Given the description of an element on the screen output the (x, y) to click on. 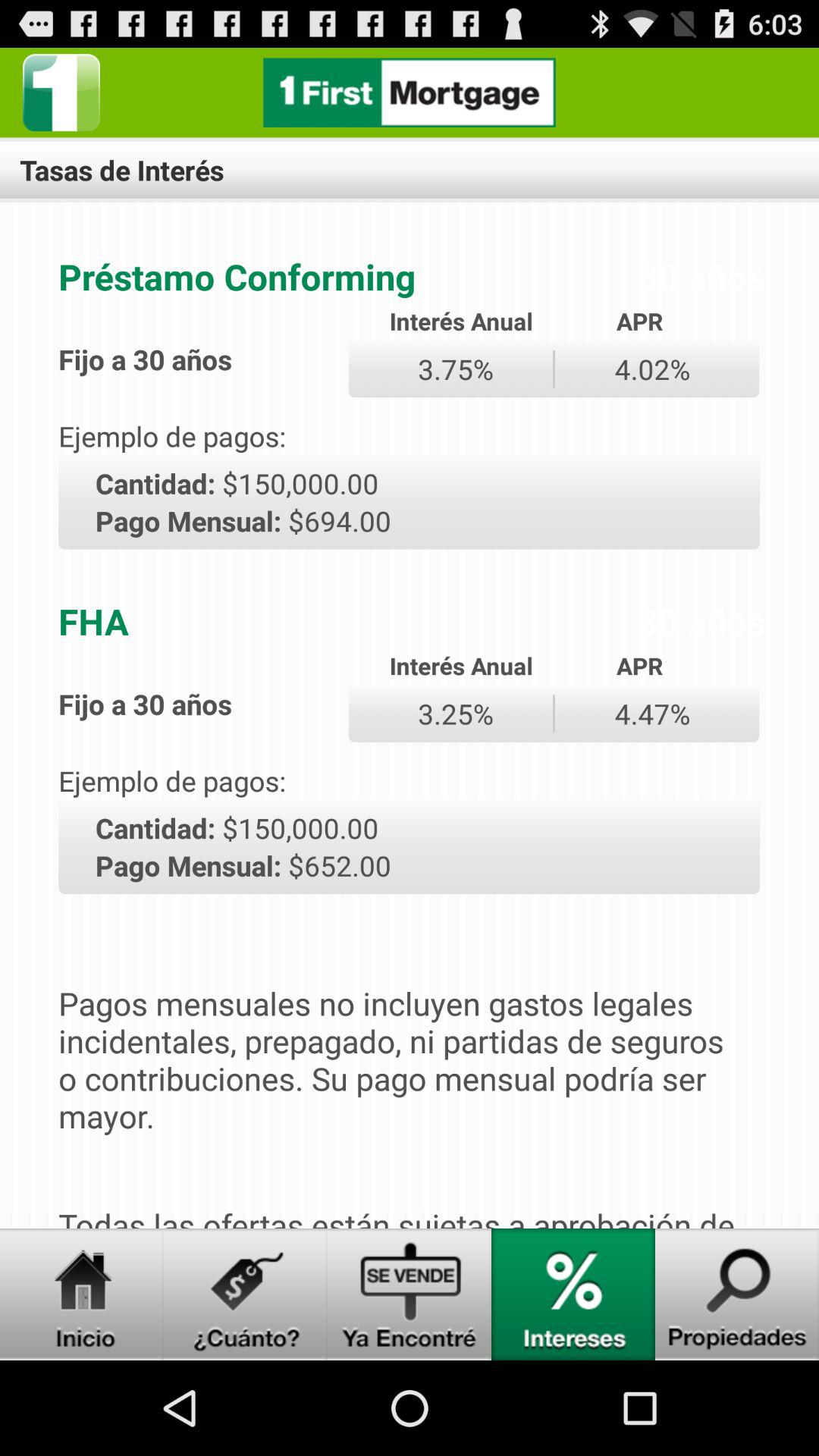
open properties (737, 1294)
